Given the description of an element on the screen output the (x, y) to click on. 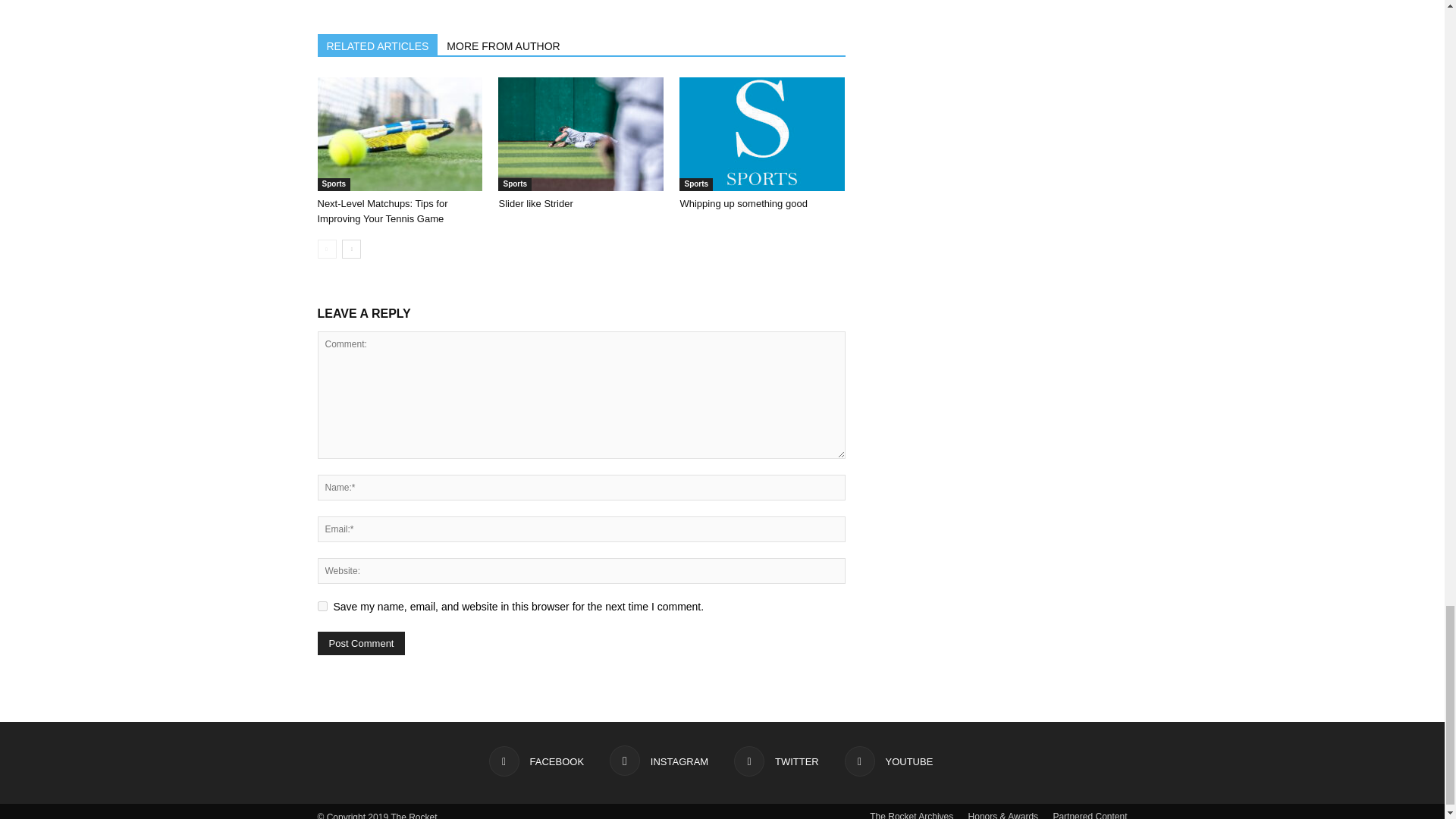
Next-Level Matchups: Tips for Improving Your Tennis Game (399, 133)
Next-Level Matchups: Tips for Improving Your Tennis Game (381, 211)
Post Comment (360, 643)
yes (321, 605)
Slider like Strider (580, 133)
